Given the description of an element on the screen output the (x, y) to click on. 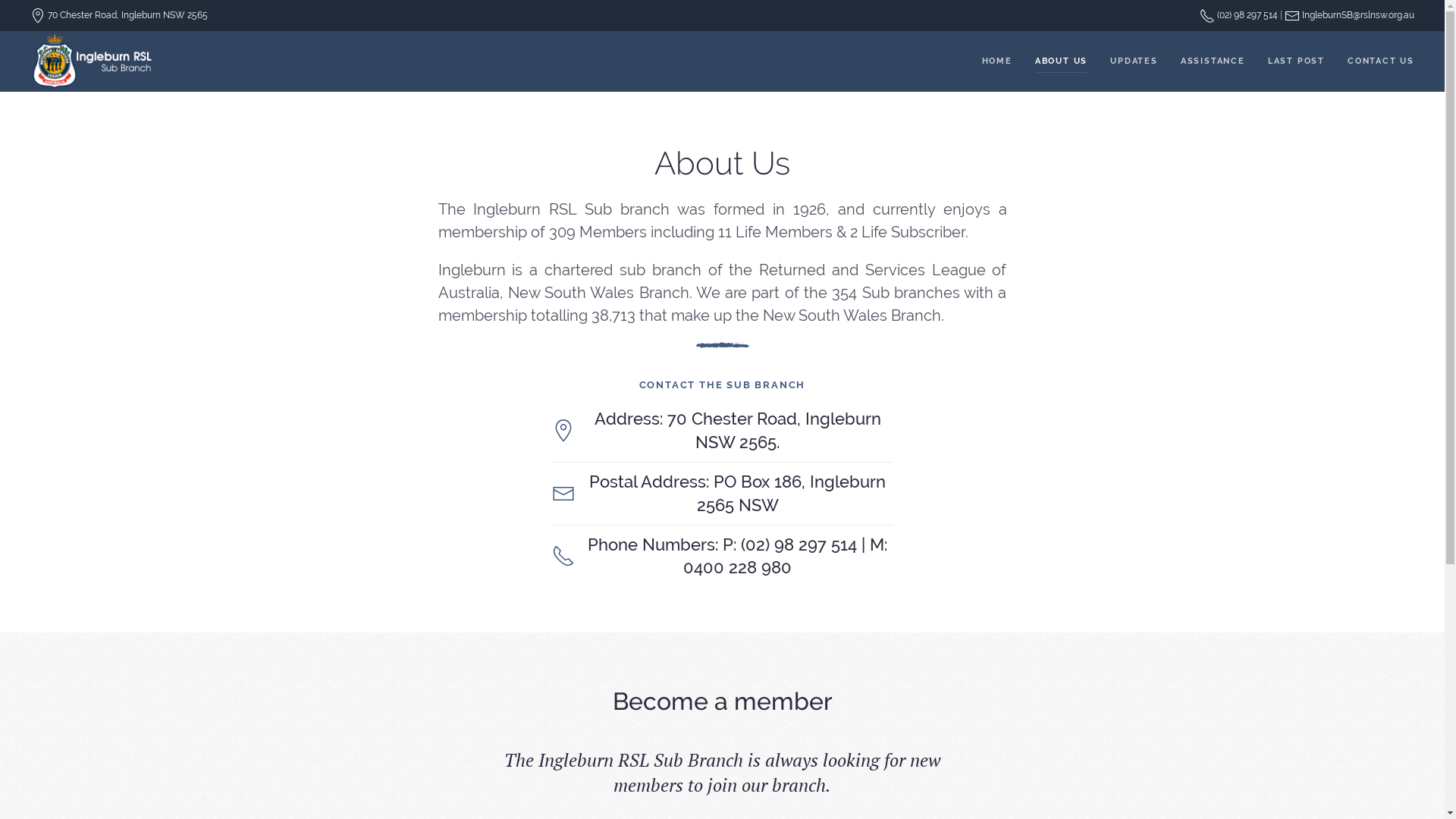
70 Chester Road, Ingleburn NSW 2565 Element type: text (118, 14)
LAST POST Element type: text (1296, 61)
UPDATES Element type: text (1133, 61)
ABOUT US Element type: text (1060, 61)
IngleburnSB@rslnsw.org.au Element type: text (1349, 14)
CONTACT US Element type: text (1380, 61)
ASSISTANCE Element type: text (1212, 61)
(02) 98 297 514 Element type: text (1238, 14)
HOME Element type: text (996, 61)
